Given the description of an element on the screen output the (x, y) to click on. 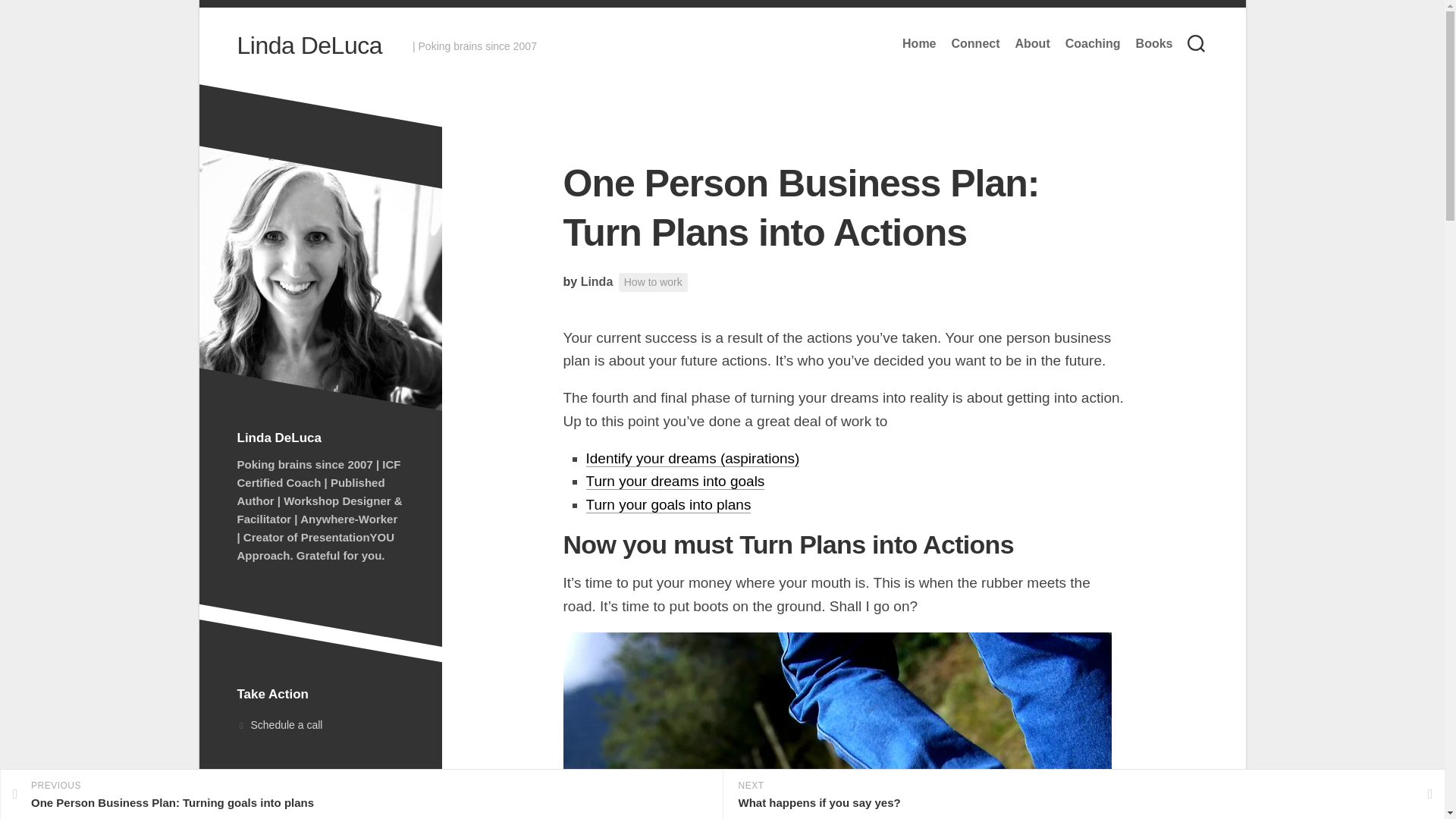
Linda DeLuca (308, 44)
Linda (596, 281)
Posts by Linda (596, 281)
Books (1154, 43)
Turn your dreams into goals (674, 480)
Turn your goals into plans (668, 504)
How to work (652, 281)
Home (919, 43)
About (1031, 43)
Schedule a call (319, 725)
Coaching (1093, 43)
Connect (974, 43)
